Given the description of an element on the screen output the (x, y) to click on. 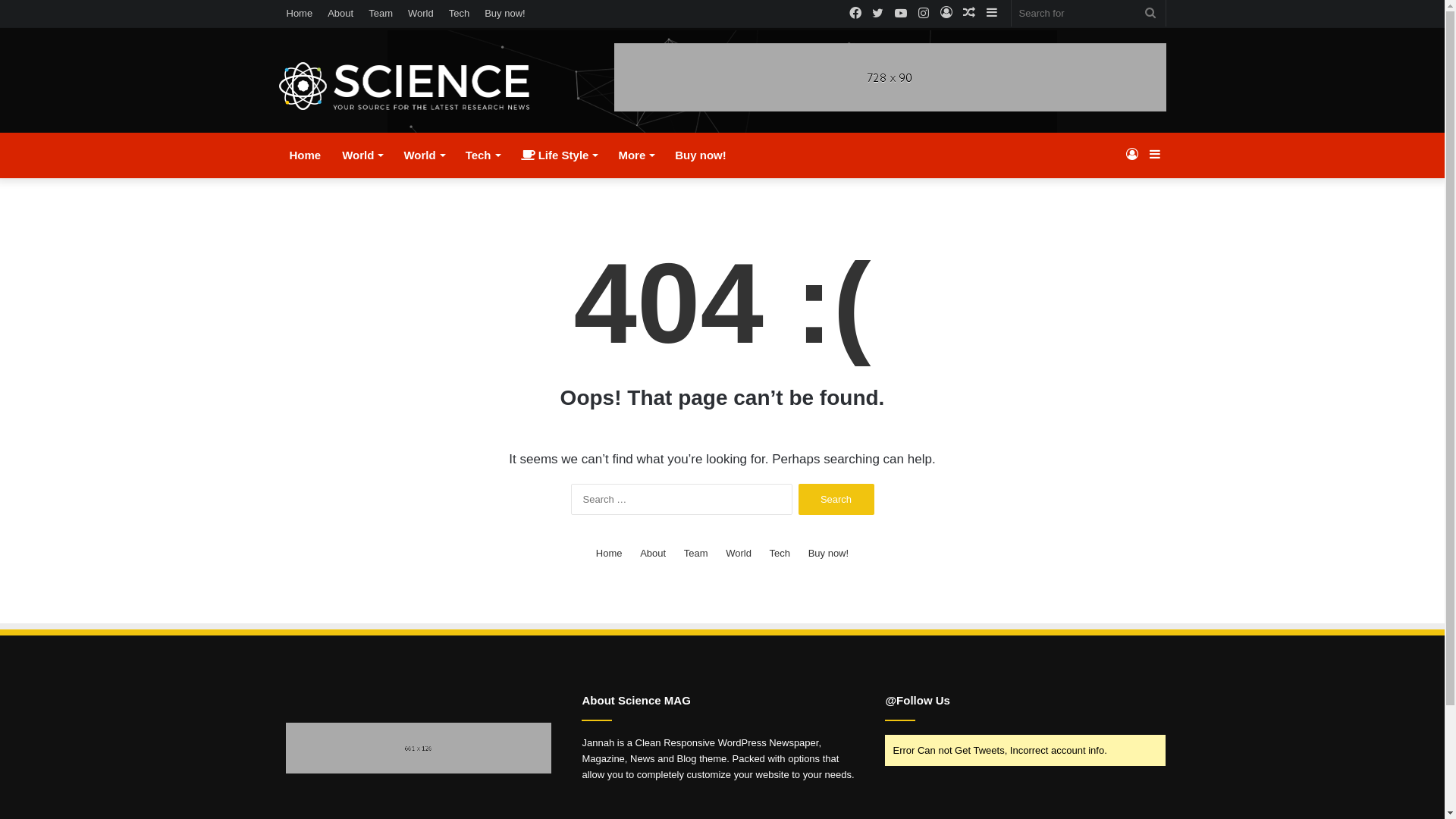
Life Style Element type: text (559, 155)
World Element type: text (423, 155)
About Element type: text (340, 13)
YouTube Element type: text (900, 13)
Log In Element type: text (1131, 155)
Search for Element type: text (1150, 13)
Team Element type: text (696, 553)
Home Element type: text (305, 155)
Sidebar Element type: text (991, 13)
Tech Element type: text (458, 13)
Log In Element type: text (946, 13)
World Element type: text (738, 553)
Tech Element type: text (779, 553)
Instagram Element type: text (923, 13)
More Element type: text (635, 155)
Buy now! Element type: text (828, 553)
Sidebar Element type: text (1154, 155)
Search for Element type: hover (1088, 13)
World Element type: text (361, 155)
Buy now! Element type: text (700, 155)
World Element type: text (420, 13)
Home Element type: text (609, 553)
@Follow Us Element type: text (916, 699)
Nat Geo Element type: hover (404, 85)
Random Article Element type: text (968, 13)
About Element type: text (652, 553)
Tech Element type: text (482, 155)
Twitter Element type: text (877, 13)
Home Element type: text (299, 13)
Buy now! Element type: text (504, 13)
Facebook Element type: text (855, 13)
Team Element type: text (380, 13)
Search Element type: text (835, 498)
